Given the description of an element on the screen output the (x, y) to click on. 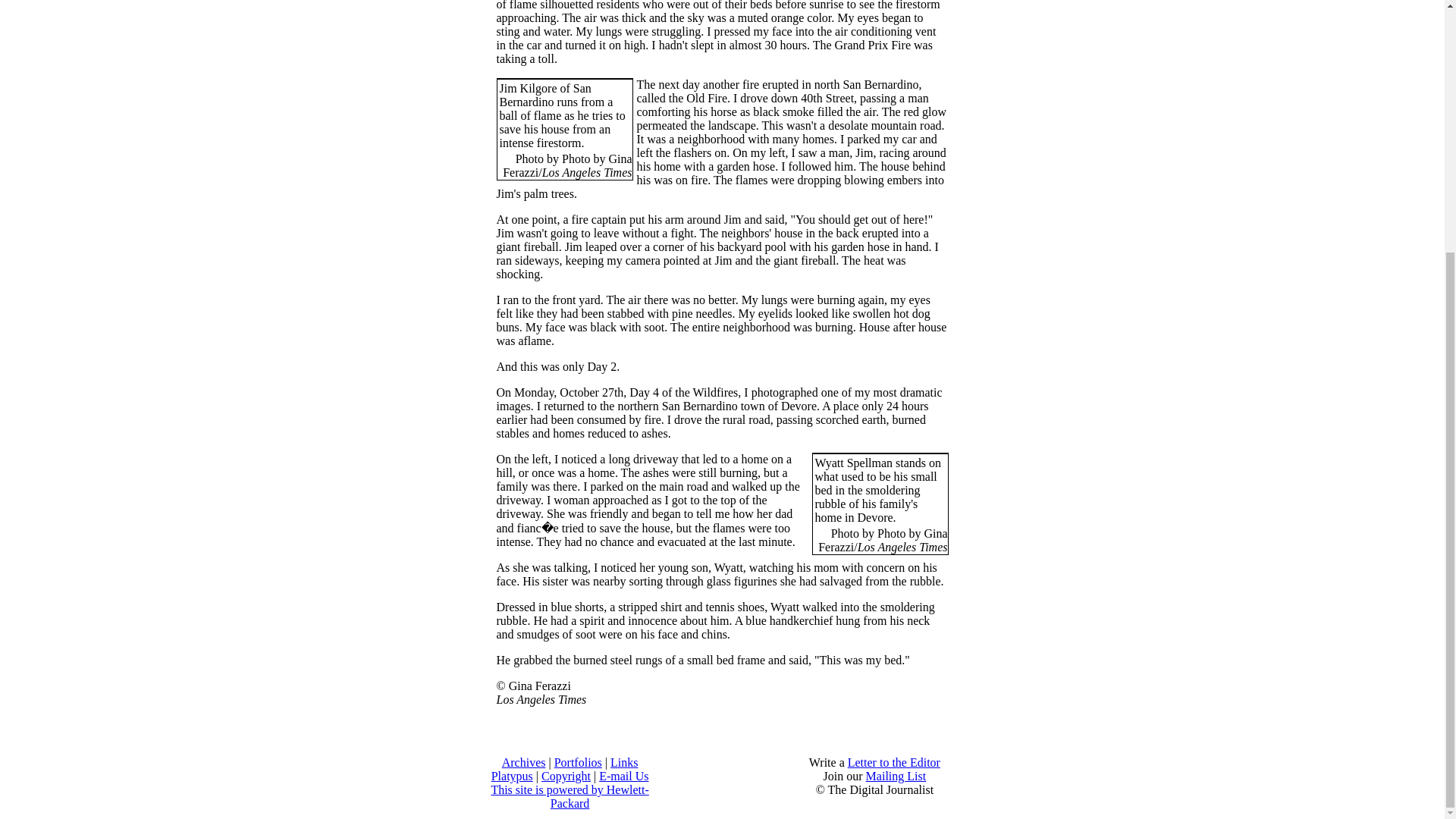
E-mail Us (622, 775)
Mailing List (896, 775)
Links (623, 762)
Portfolios (578, 762)
Letter to the Editor (893, 762)
This site is powered by Hewlett-Packard (568, 795)
Archives (524, 762)
Platypus (512, 775)
Copyright (566, 775)
